Given the description of an element on the screen output the (x, y) to click on. 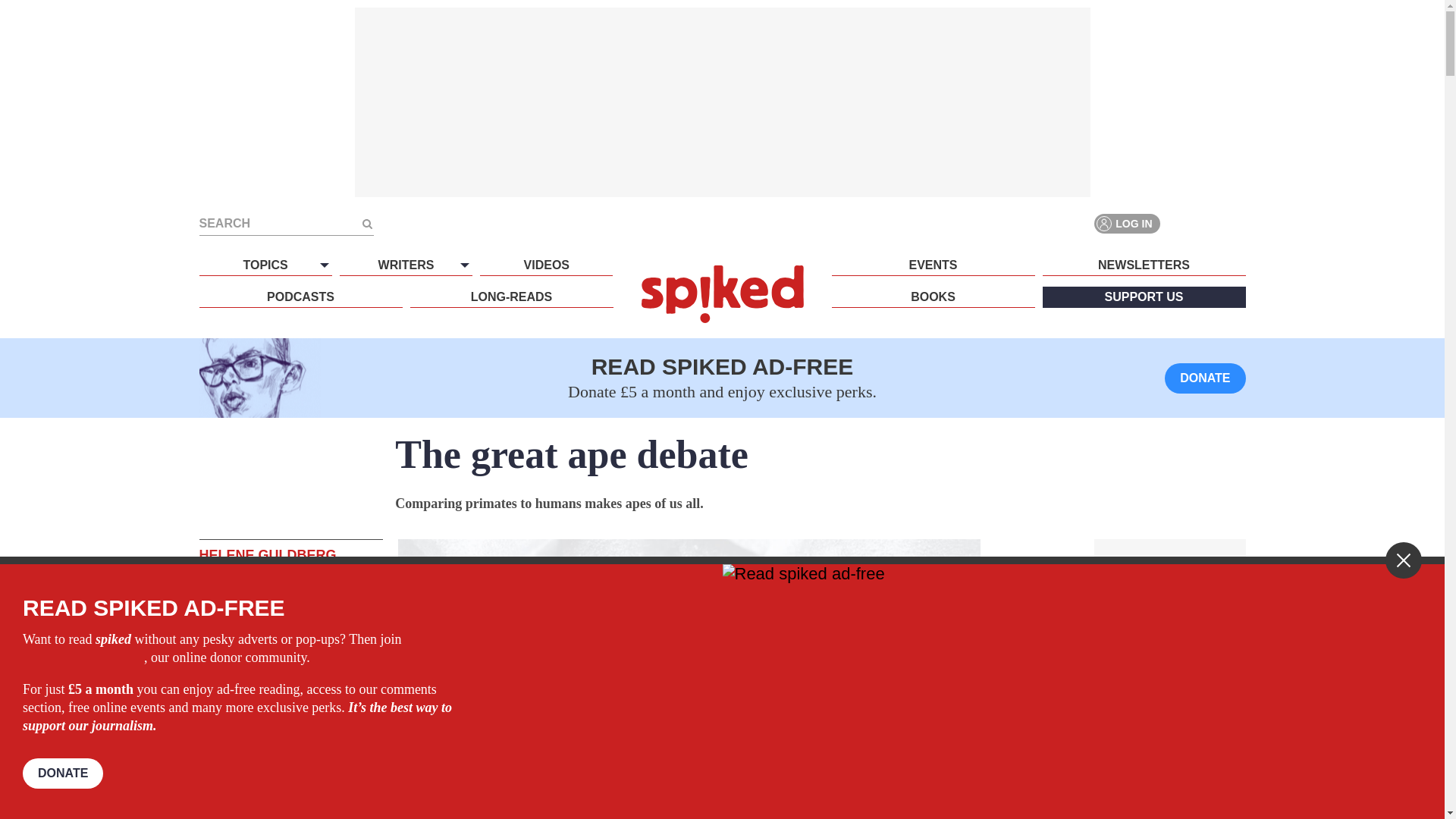
Facebook (1180, 223)
TOPICS (264, 265)
EVENTS (932, 265)
spiked - humanity is underrated (722, 293)
PODCASTS (299, 296)
LONG-READS (510, 296)
WRITERS (405, 265)
NEWSLETTERS (1143, 265)
SUPPORT US (1143, 296)
Twitter (1207, 223)
